Given the description of an element on the screen output the (x, y) to click on. 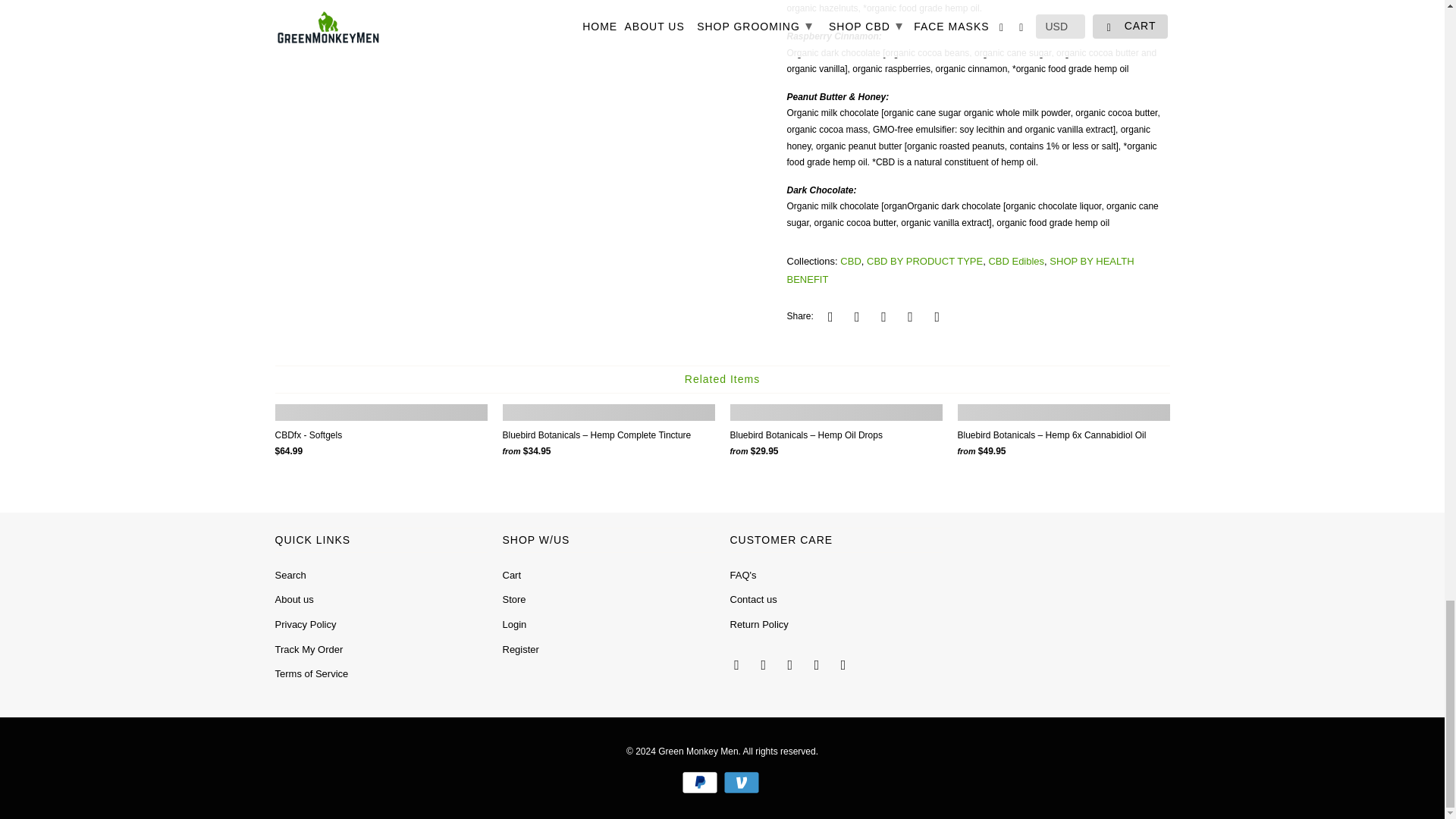
PayPal (700, 782)
Venmo (742, 782)
